Given the description of an element on the screen output the (x, y) to click on. 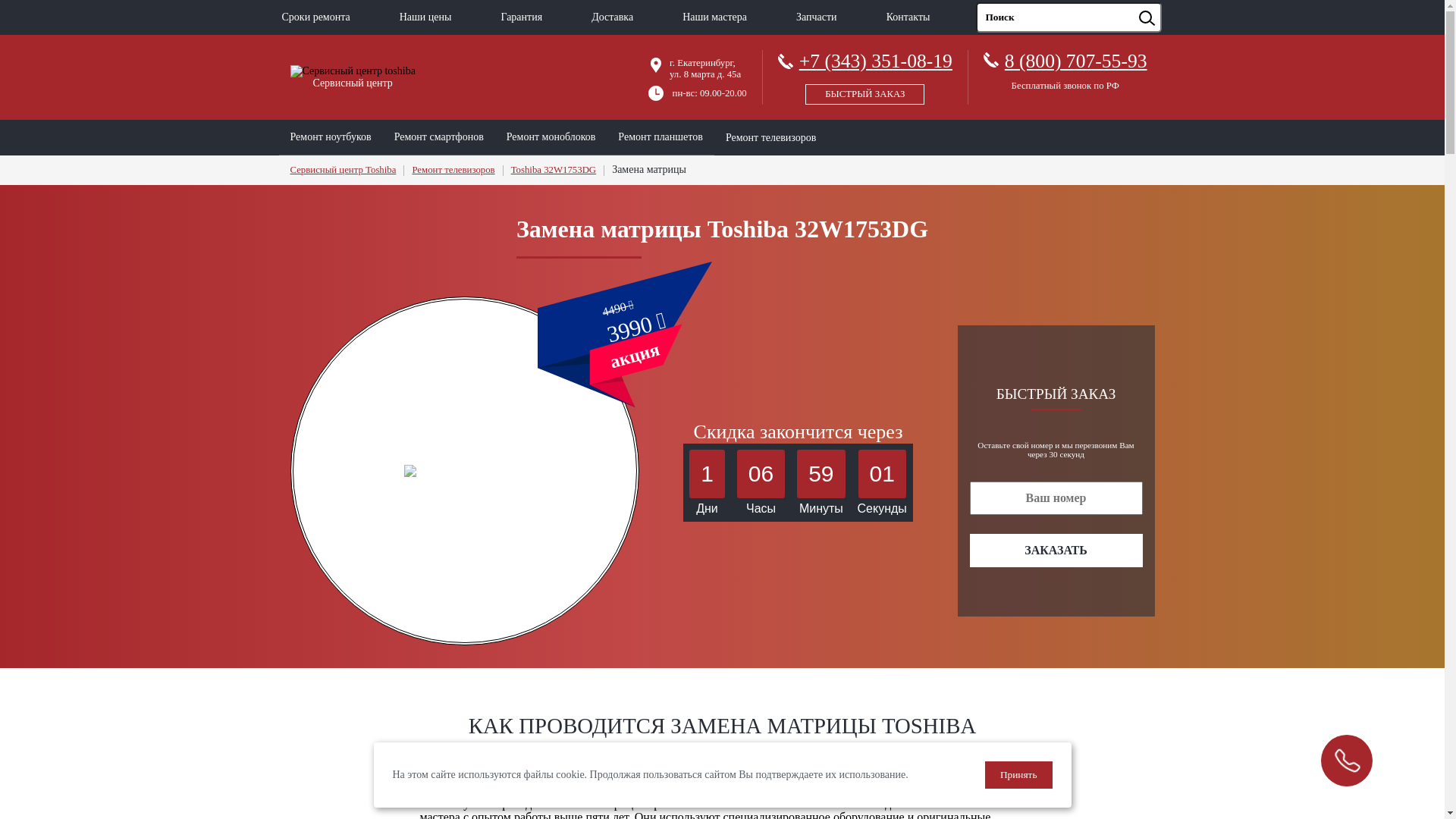
8 (800) 707-55-93 Element type: text (1075, 61)
sisea.search Element type: text (1165, 2)
Toshiba 32W1753DG Element type: text (553, 170)
+7 (343) 351-08-19 Element type: text (865, 74)
